Given the description of an element on the screen output the (x, y) to click on. 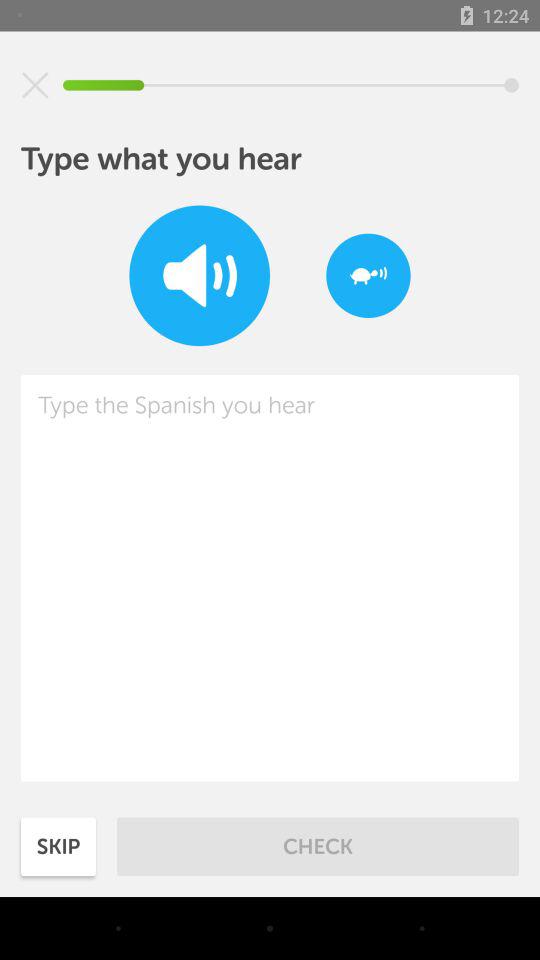
space to type spanish (270, 578)
